Given the description of an element on the screen output the (x, y) to click on. 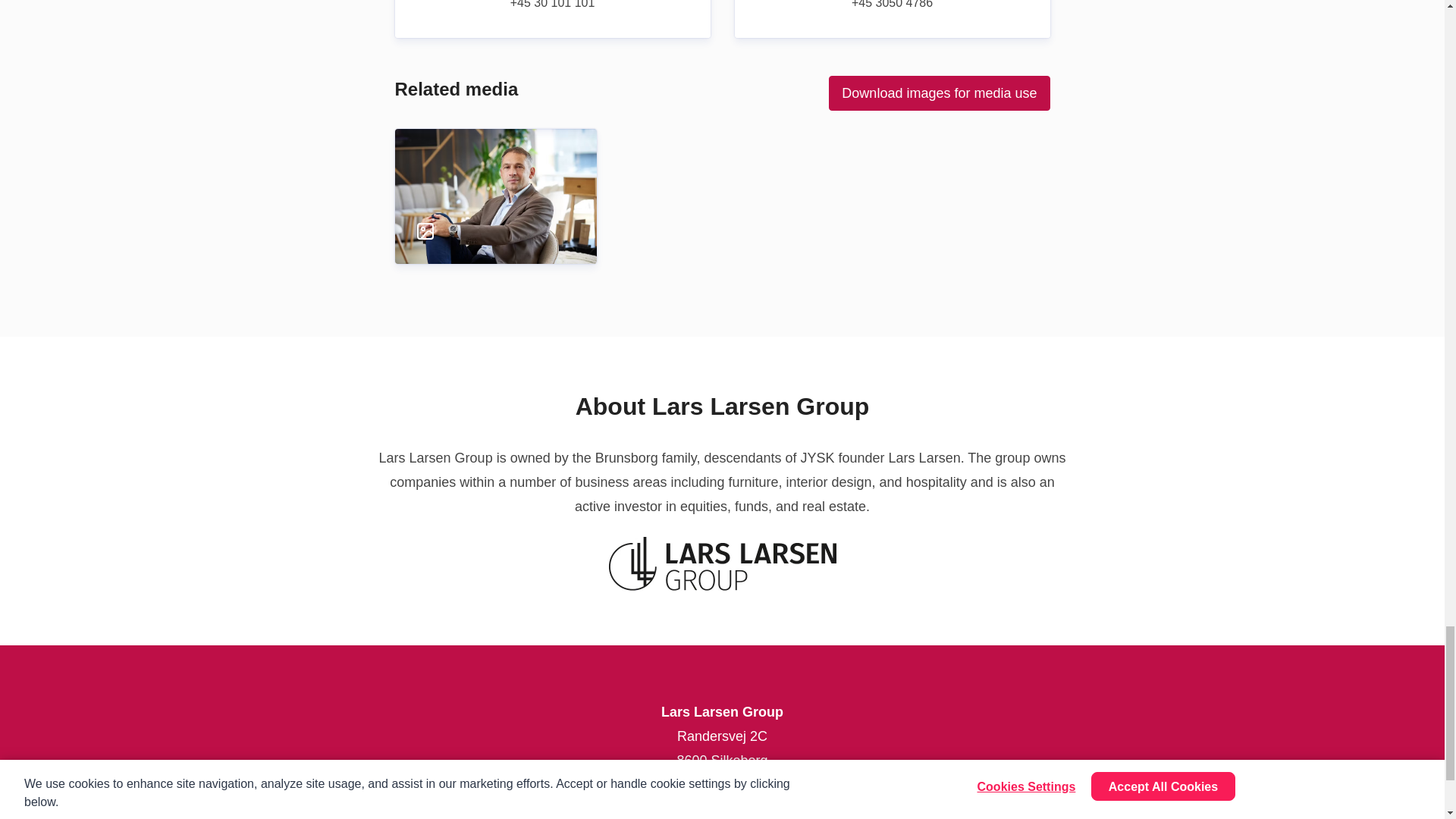
Download images for media use (938, 93)
Rami Jensen, President and CEO, JYSK - Nov 23 (494, 179)
